Given the description of an element on the screen output the (x, y) to click on. 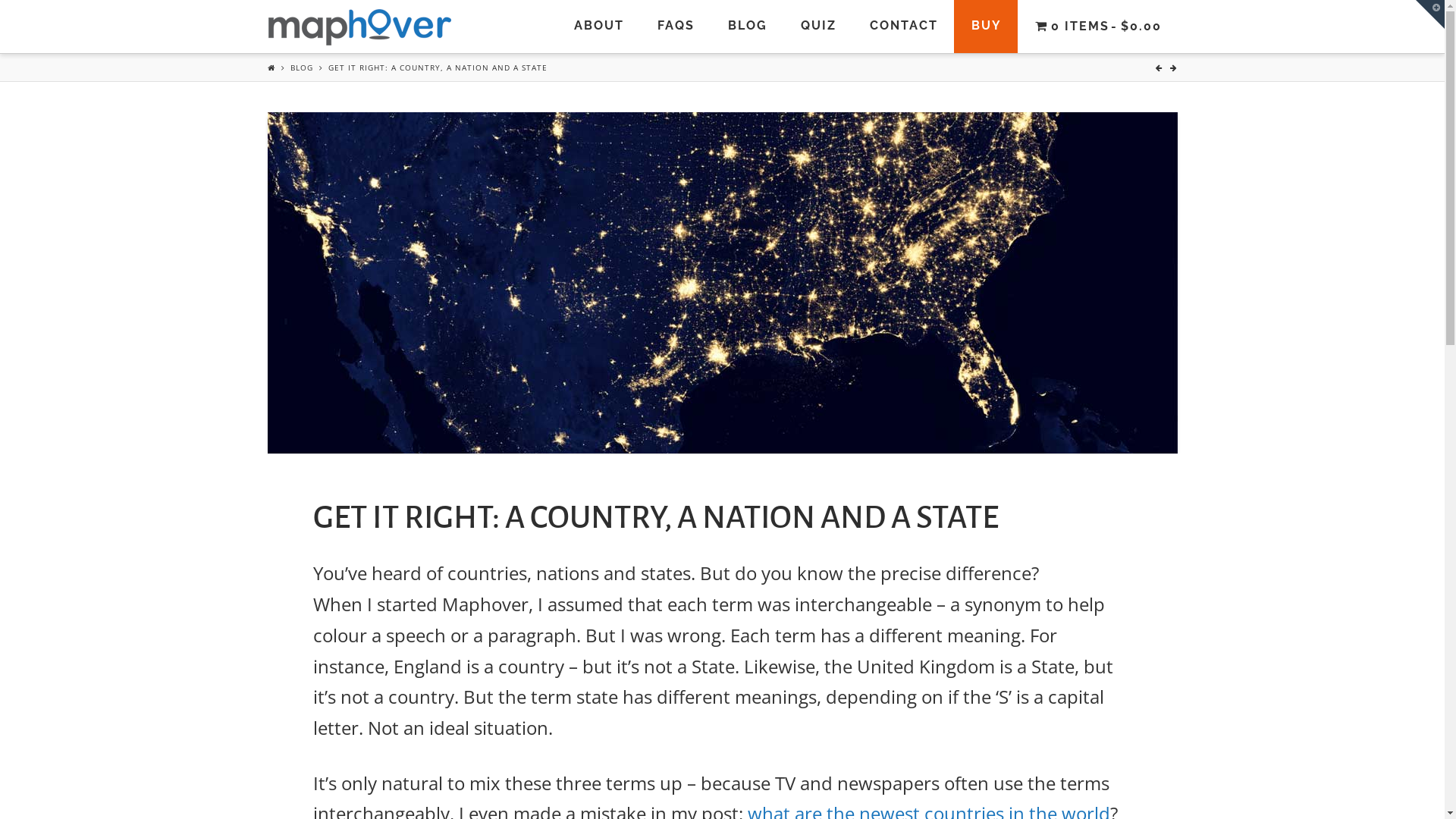
0 ITEMS$0.00 Element type: text (1097, 26)
Toggle the Widgetbar Element type: text (1429, 14)
ABOUT Element type: text (598, 26)
BLOG Element type: text (300, 67)
BUY Element type: text (985, 26)
FAQS Element type: text (675, 26)
CONTACT Element type: text (902, 26)
QUIZ Element type: text (816, 26)
BLOG Element type: text (745, 26)
